Given the description of an element on the screen output the (x, y) to click on. 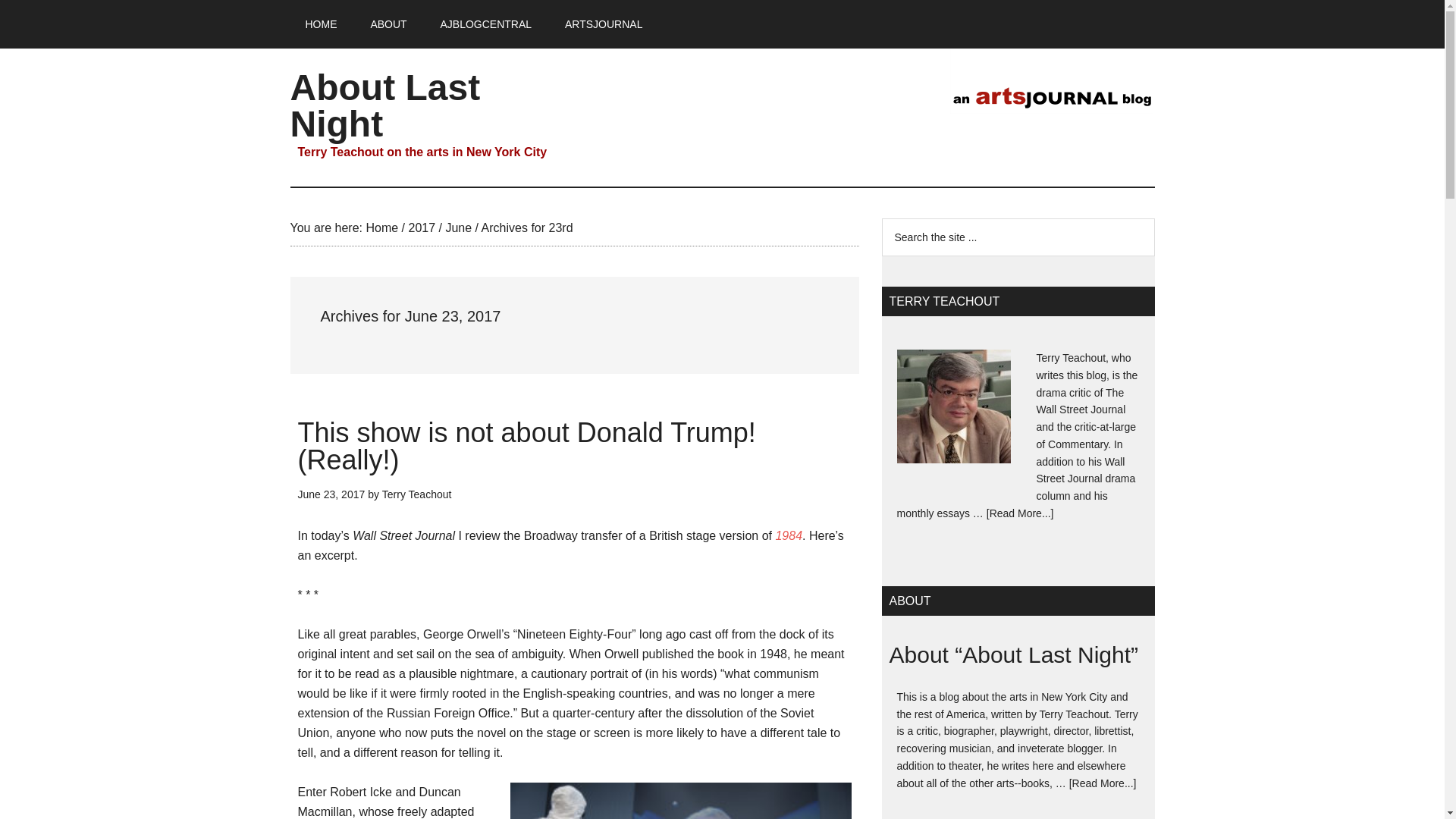
ABOUT (388, 24)
Home (381, 227)
HOME (320, 24)
ARTSJOURNAL (604, 24)
About Last Night (384, 105)
2017 (421, 227)
June (458, 227)
